Given the description of an element on the screen output the (x, y) to click on. 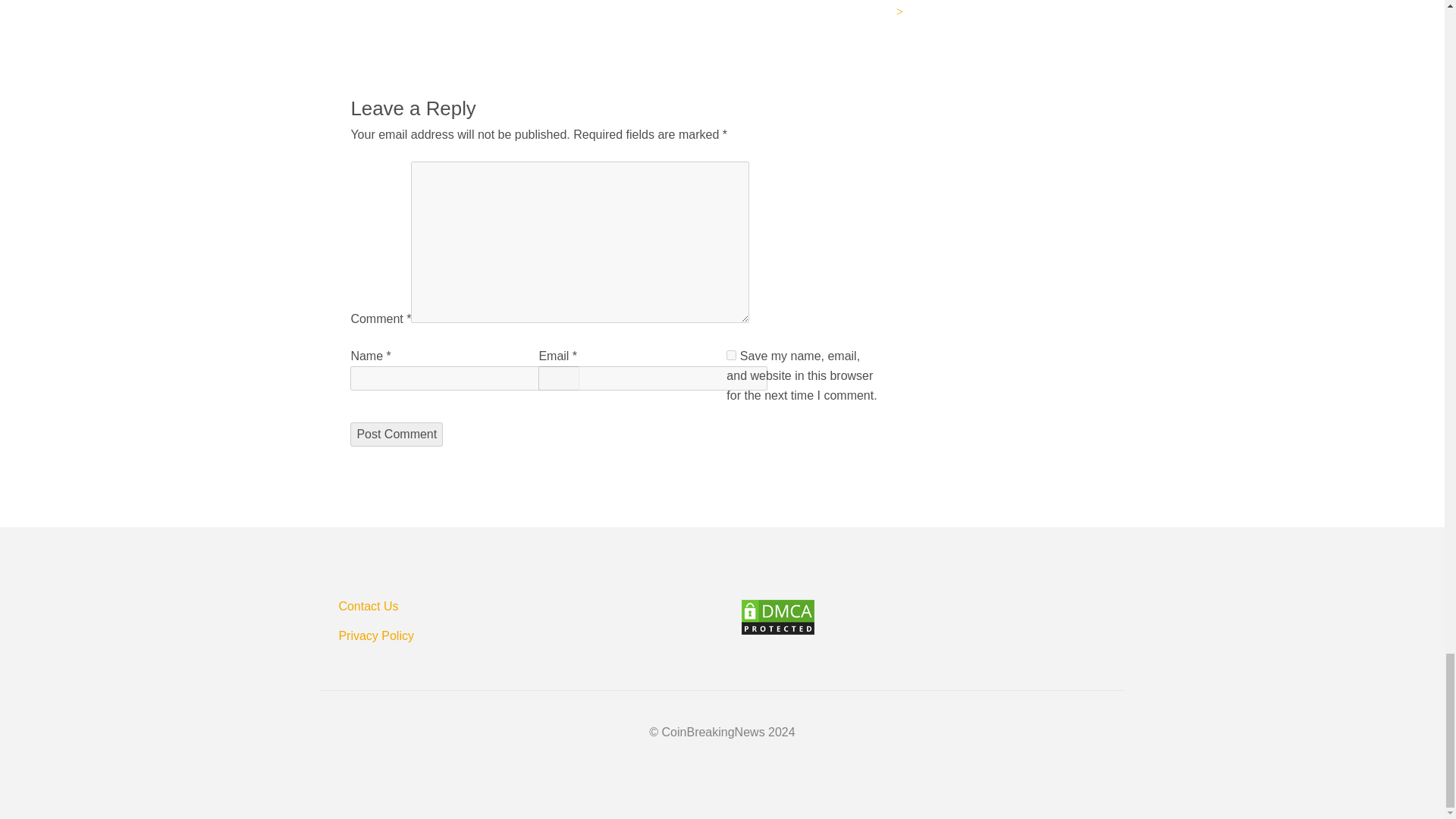
Post Comment (396, 434)
GitHub (356, 5)
Content Protection by DMCA.com (932, 617)
yes (731, 355)
Post Comment (396, 434)
